Given the description of an element on the screen output the (x, y) to click on. 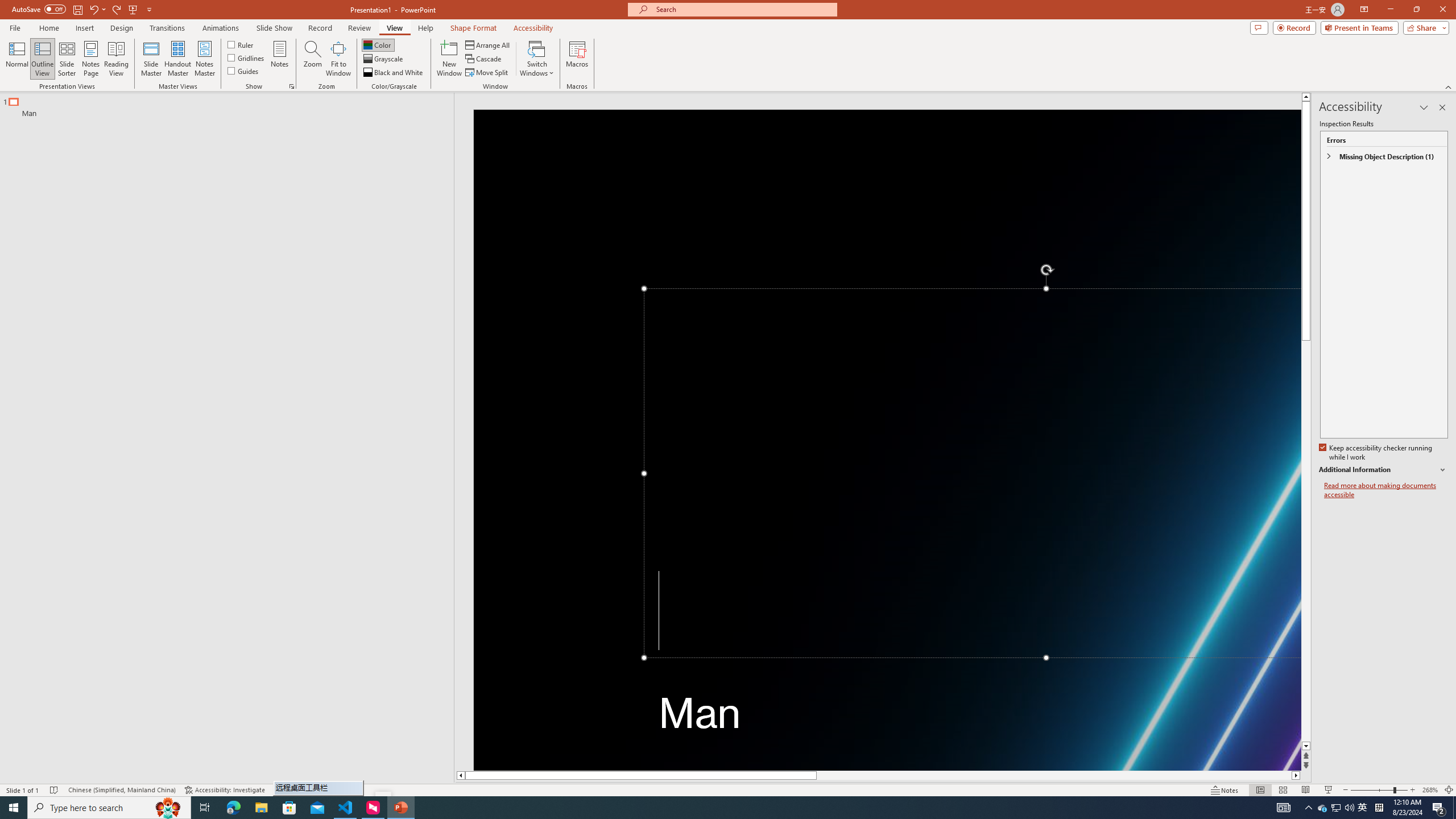
New Window (449, 58)
